Given the description of an element on the screen output the (x, y) to click on. 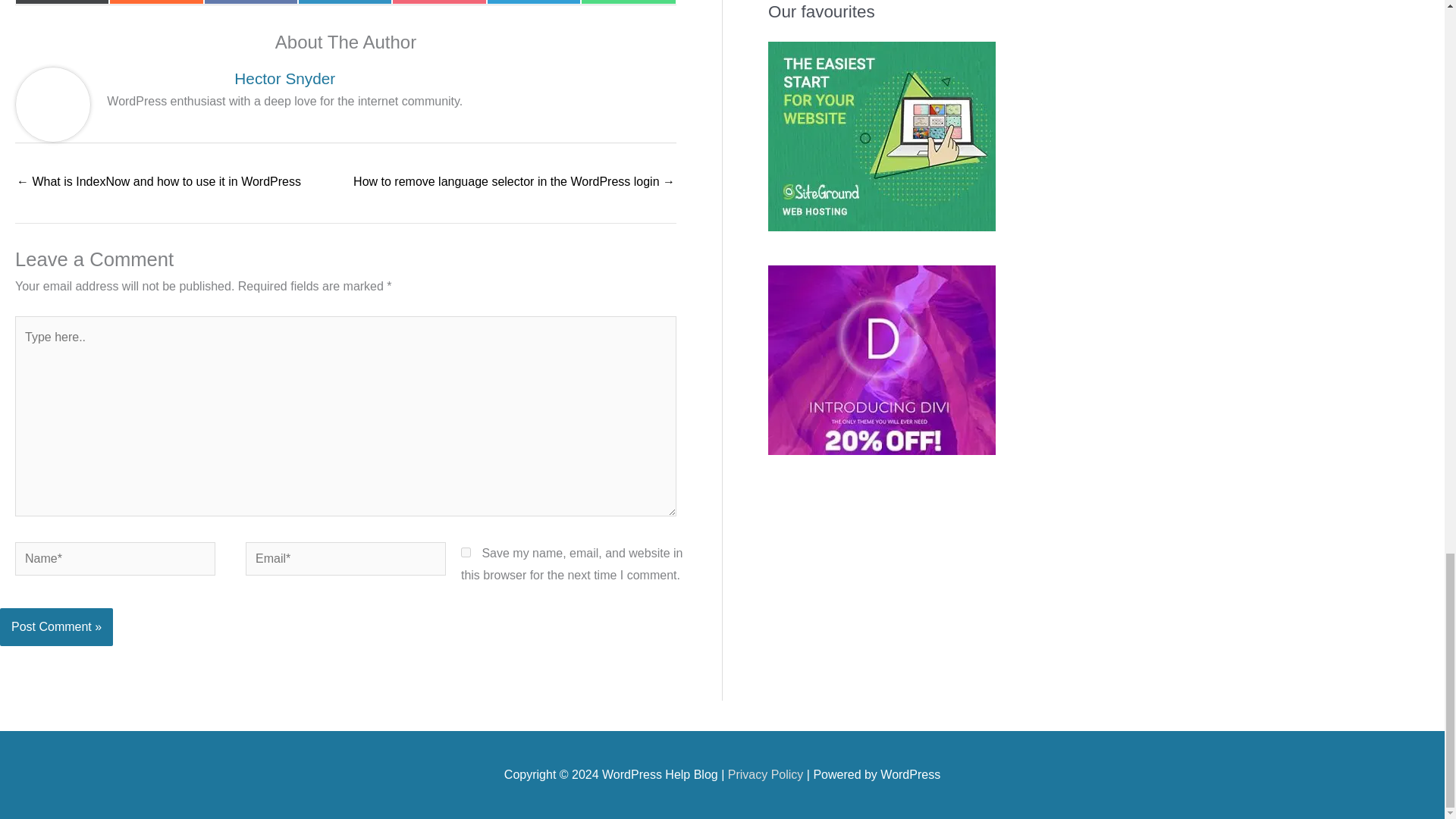
Hector Snyder (156, 2)
yes (628, 2)
